Given the description of an element on the screen output the (x, y) to click on. 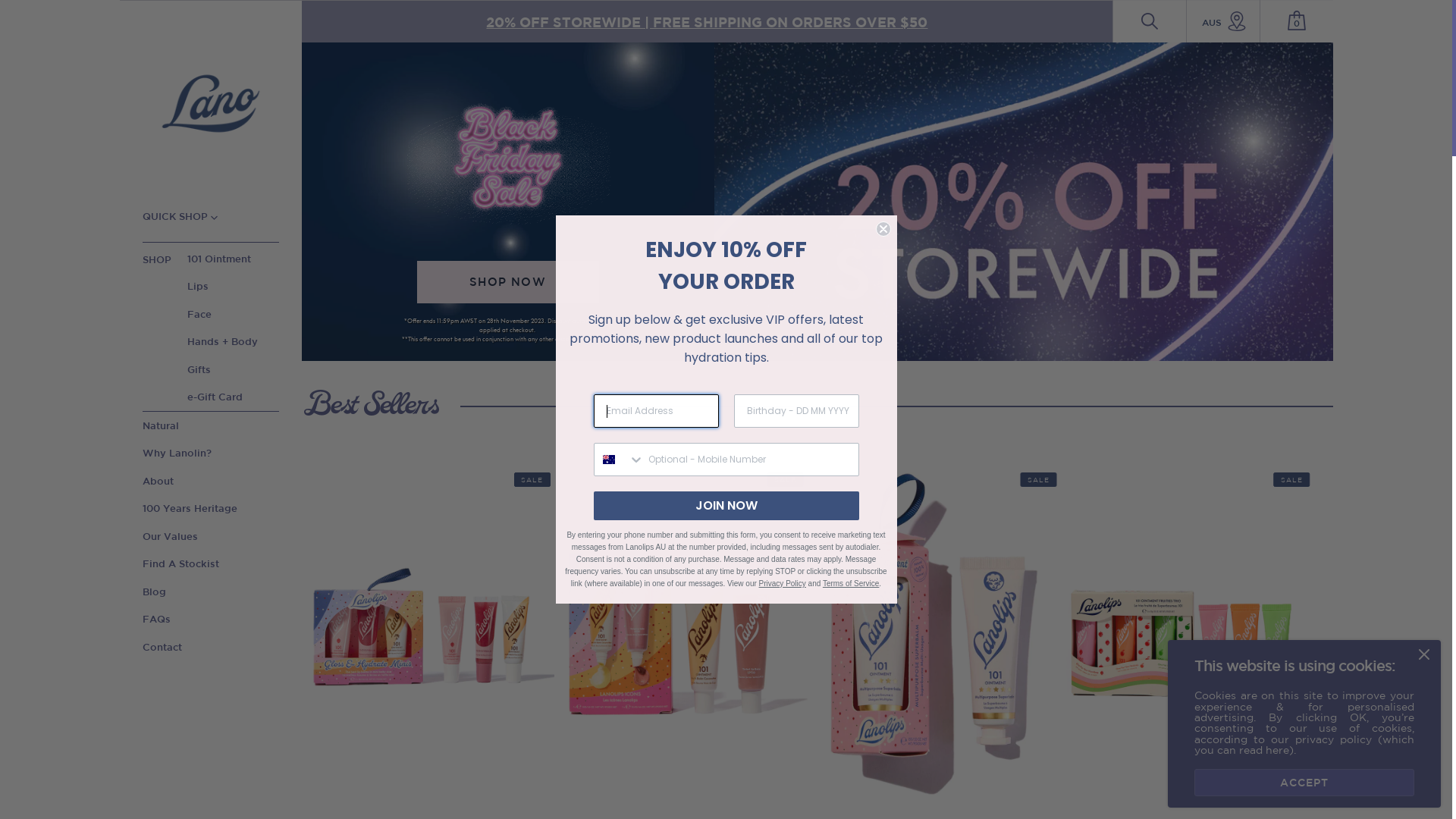
SHOP NOW Element type: text (508, 282)
Why Lanolin? Element type: text (176, 452)
AUS Element type: text (1223, 21)
SHOP Element type: text (165, 259)
JOIN NOW Element type: text (725, 505)
QUICK SHOP Element type: text (179, 216)
Terms of Service Element type: text (850, 583)
0 Element type: text (1296, 20)
Lips Element type: text (197, 286)
Natural Element type: text (160, 425)
20% OFF STOREWIDE | FREE SHIPPING ON ORDERS OVER $50 Element type: text (706, 21)
FAQs Element type: text (156, 618)
Hands + Body Element type: text (222, 341)
Australia Element type: hover (608, 459)
Face Element type: text (199, 314)
Contact Element type: text (162, 647)
100 Years Heritage Element type: text (189, 508)
e-Gift Card Element type: text (214, 396)
Blog Element type: text (154, 591)
Gifts Element type: text (198, 369)
ACCEPT Element type: text (1304, 782)
101 Ointment Element type: text (219, 261)
Our Values Element type: text (169, 536)
here Element type: text (1277, 749)
Submit Element type: text (34, 15)
Find A Stockist Element type: text (180, 563)
About Element type: text (157, 480)
Privacy Policy Element type: text (782, 583)
